Given the description of an element on the screen output the (x, y) to click on. 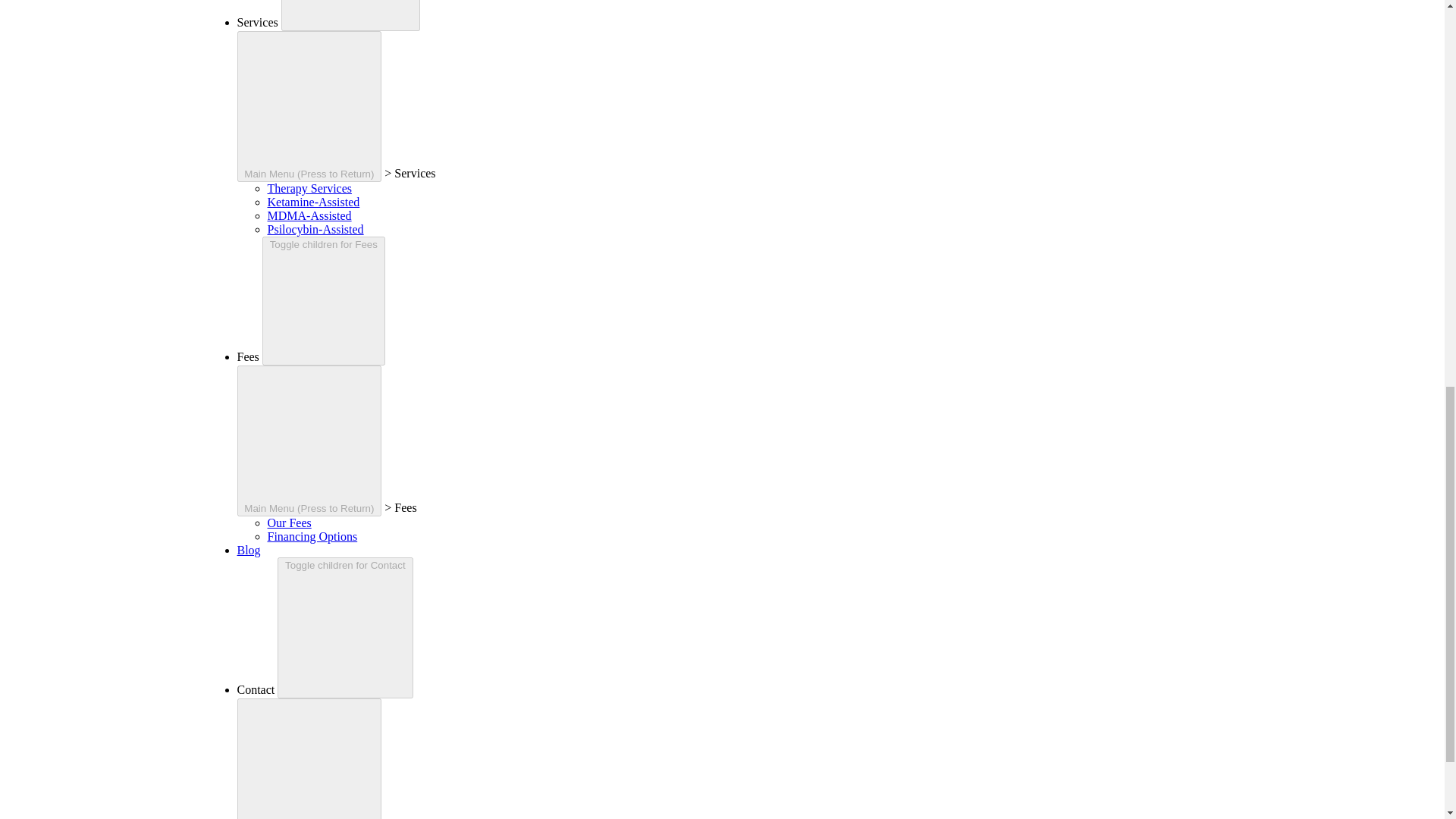
Toggle children for Services (350, 15)
Therapy Services (309, 187)
Our Fees (288, 522)
Ketamine-Assisted (312, 201)
Psilocybin-Assisted (314, 228)
Financing Options (311, 535)
Toggle children for Fees (323, 300)
Toggle children for Contact (345, 627)
Blog (247, 549)
MDMA-Assisted (308, 215)
